Given the description of an element on the screen output the (x, y) to click on. 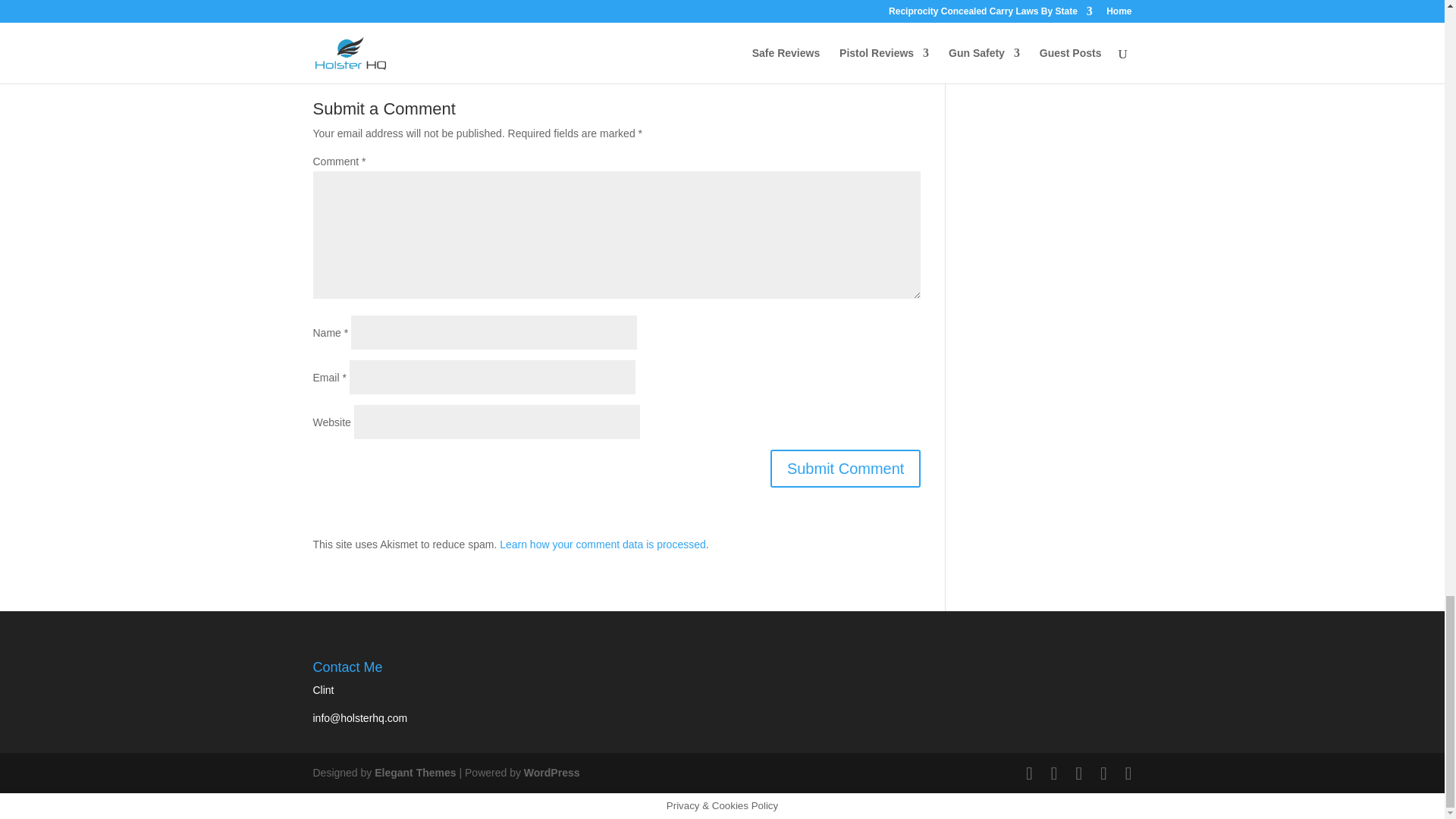
Click to share on Facebook (354, 4)
Submit Comment (845, 468)
Premium WordPress Themes (414, 772)
Click to share on Pinterest (384, 4)
Click to share on Twitter (324, 4)
